Given the description of an element on the screen output the (x, y) to click on. 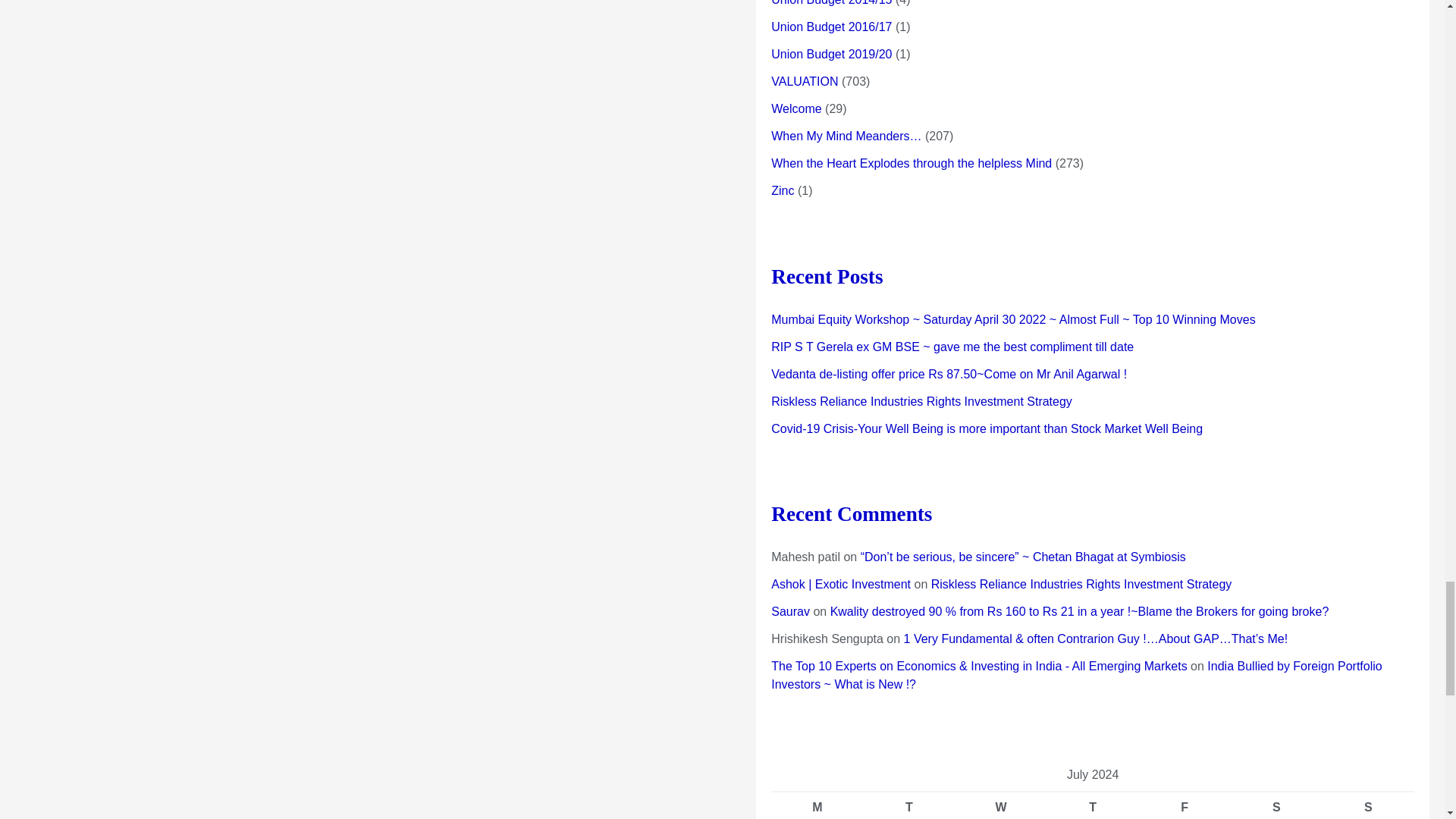
Saturday (1276, 805)
Thursday (1092, 805)
Sunday (1367, 805)
Tuesday (909, 805)
Friday (1184, 805)
Monday (817, 805)
Wednesday (1000, 805)
